Given the description of an element on the screen output the (x, y) to click on. 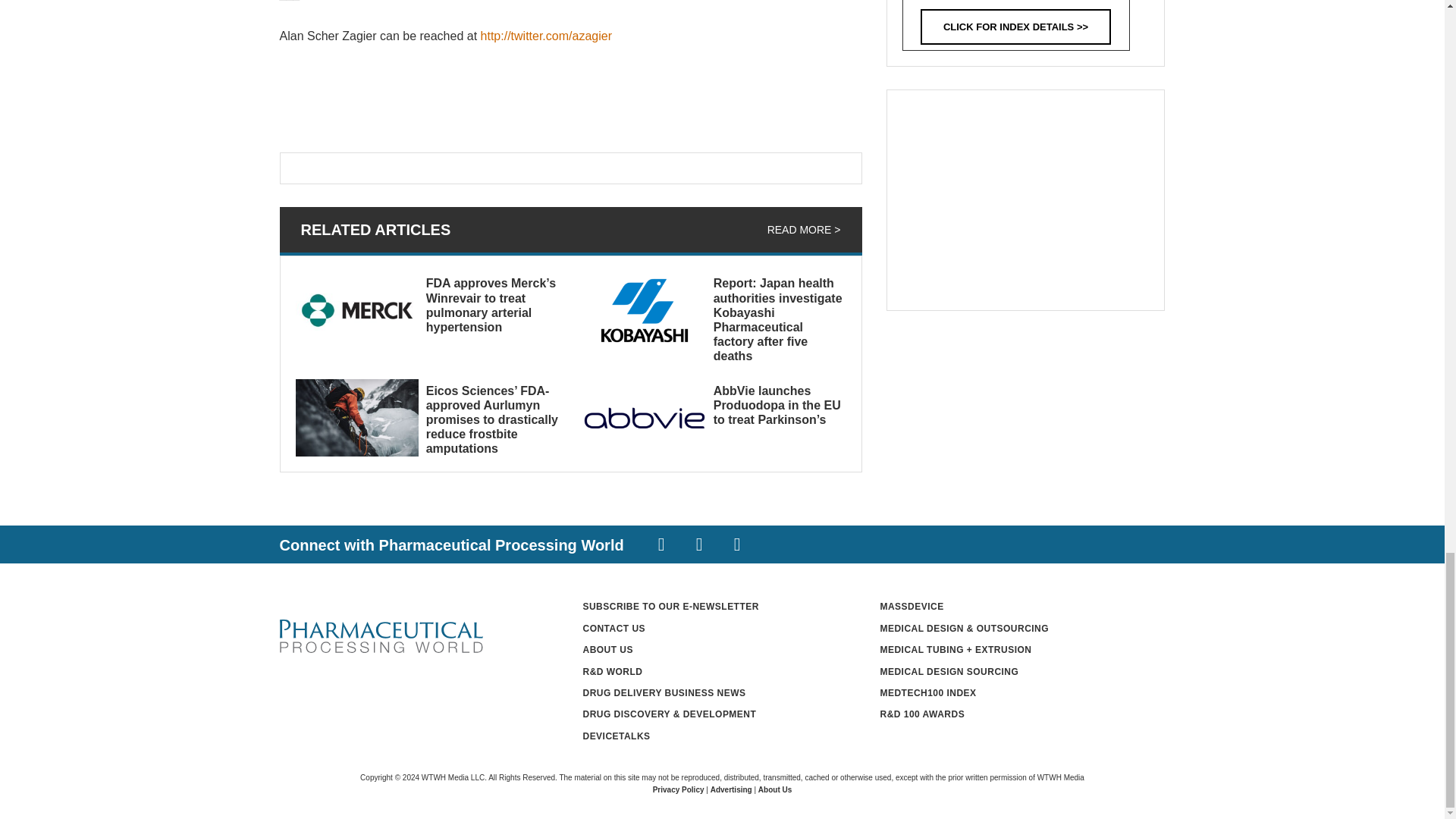
DRUG DELIVERY BUSINESS NEWS (663, 692)
Pharmaceutical Processing World (380, 636)
3rd party ad content (1024, 199)
DEVICETALKS (615, 736)
SUBSCRIBE TO OUR E-NEWSLETTER (670, 606)
CONTACT US (613, 628)
ABOUT US (607, 649)
